Given the description of an element on the screen output the (x, y) to click on. 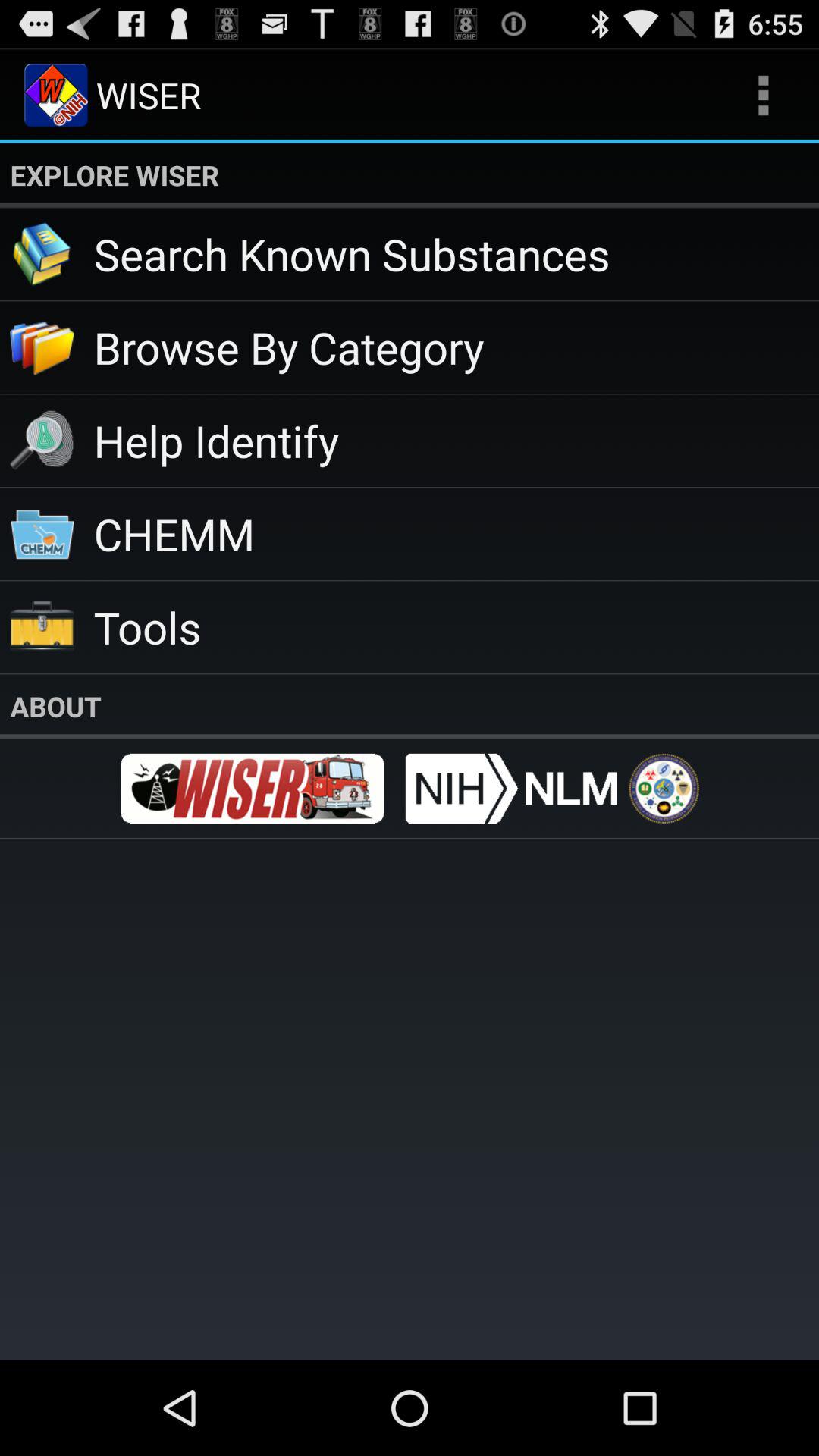
choose the tools app (456, 626)
